Given the description of an element on the screen output the (x, y) to click on. 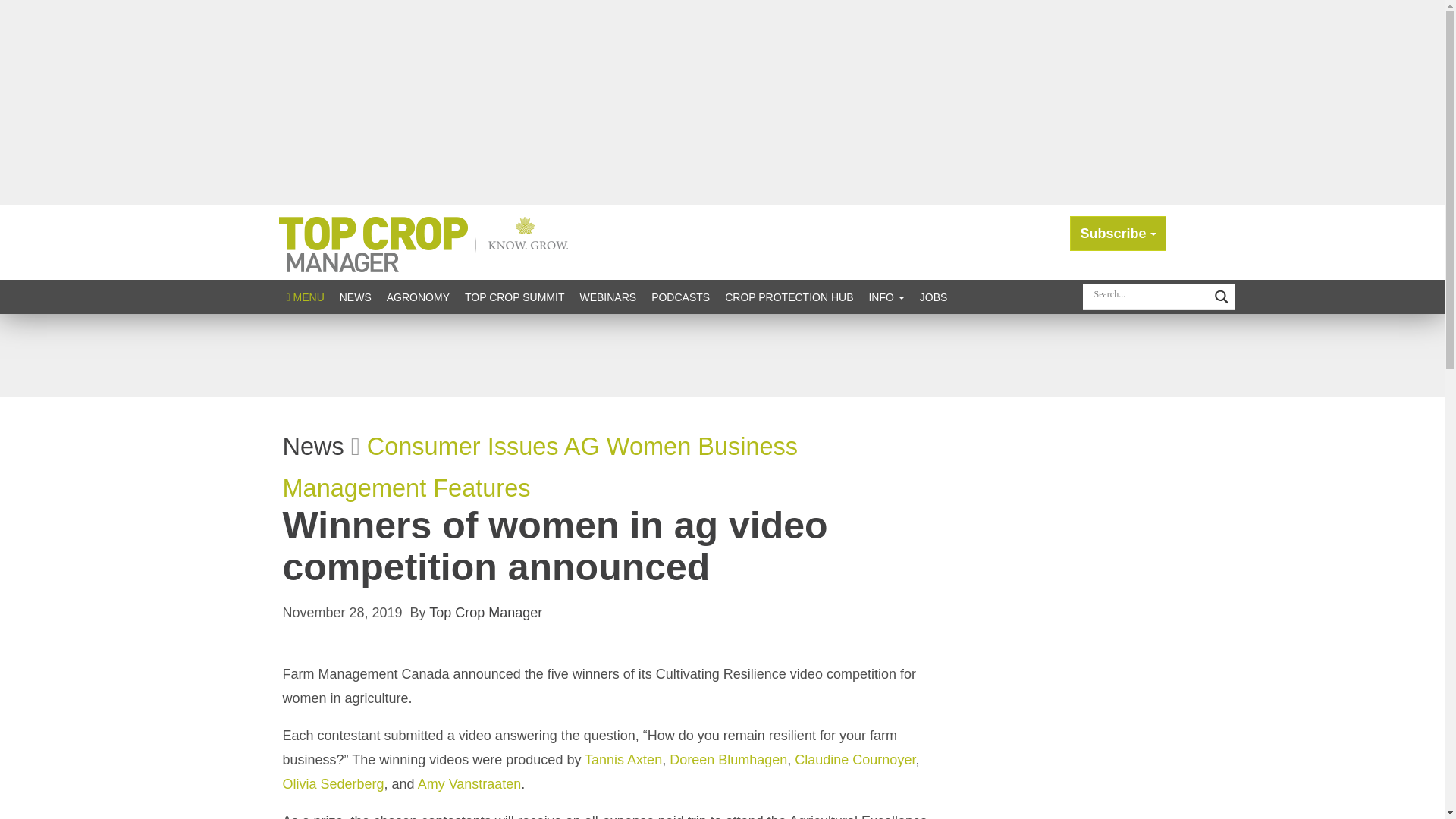
TOP CROP SUMMIT (514, 296)
3rd party ad content (721, 355)
AGRONOMY (417, 296)
WEBINARS (607, 296)
JOBS (933, 296)
MENU (305, 296)
PODCASTS (680, 296)
Subscribe (1118, 233)
CROP PROTECTION HUB (788, 296)
